Given the description of an element on the screen output the (x, y) to click on. 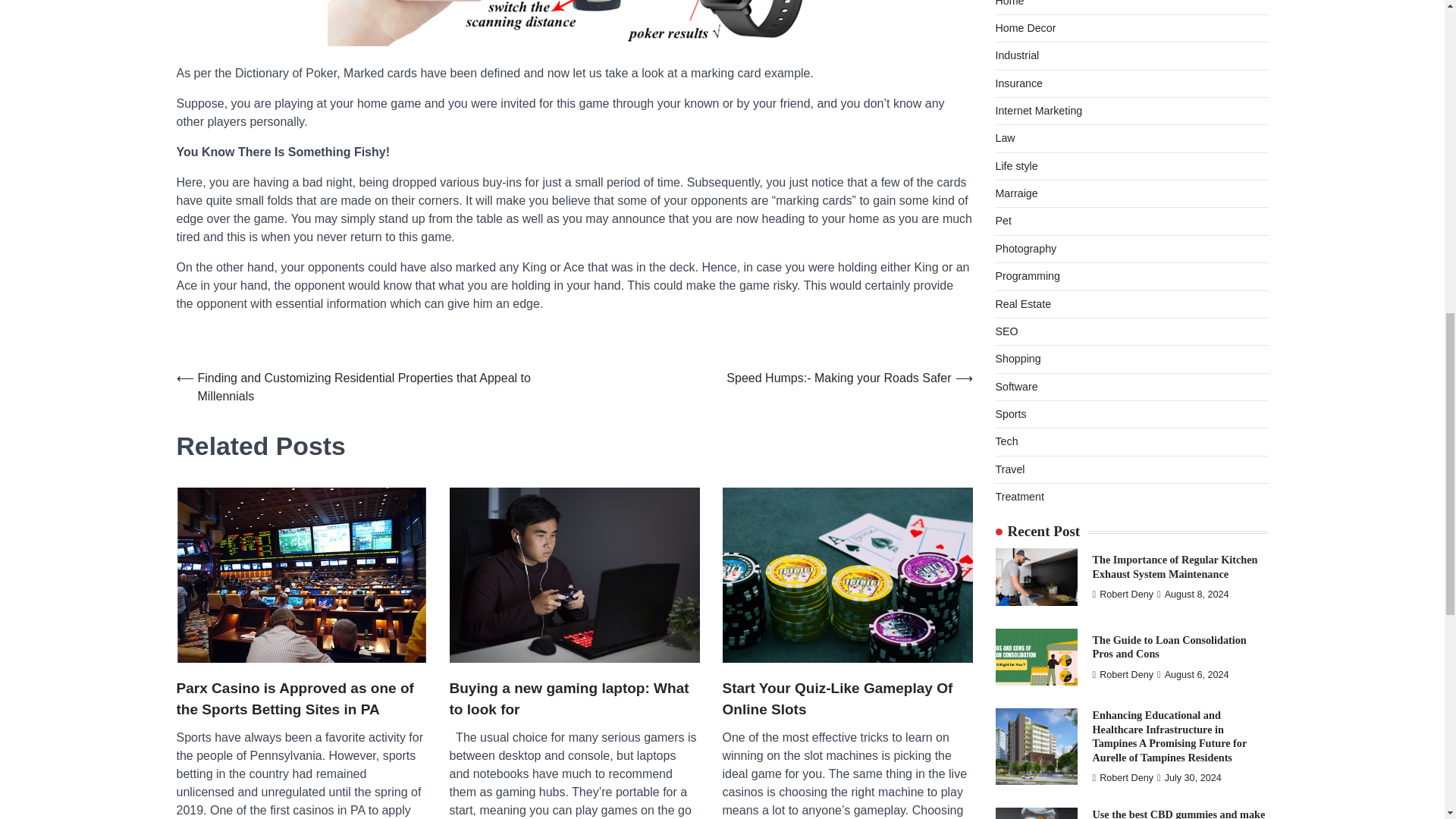
Buying a new gaming laptop: What to look for   (573, 699)
poker cheating devices (574, 22)
Start Your Quiz-Like Gameplay Of Online Slots (847, 699)
